Given the description of an element on the screen output the (x, y) to click on. 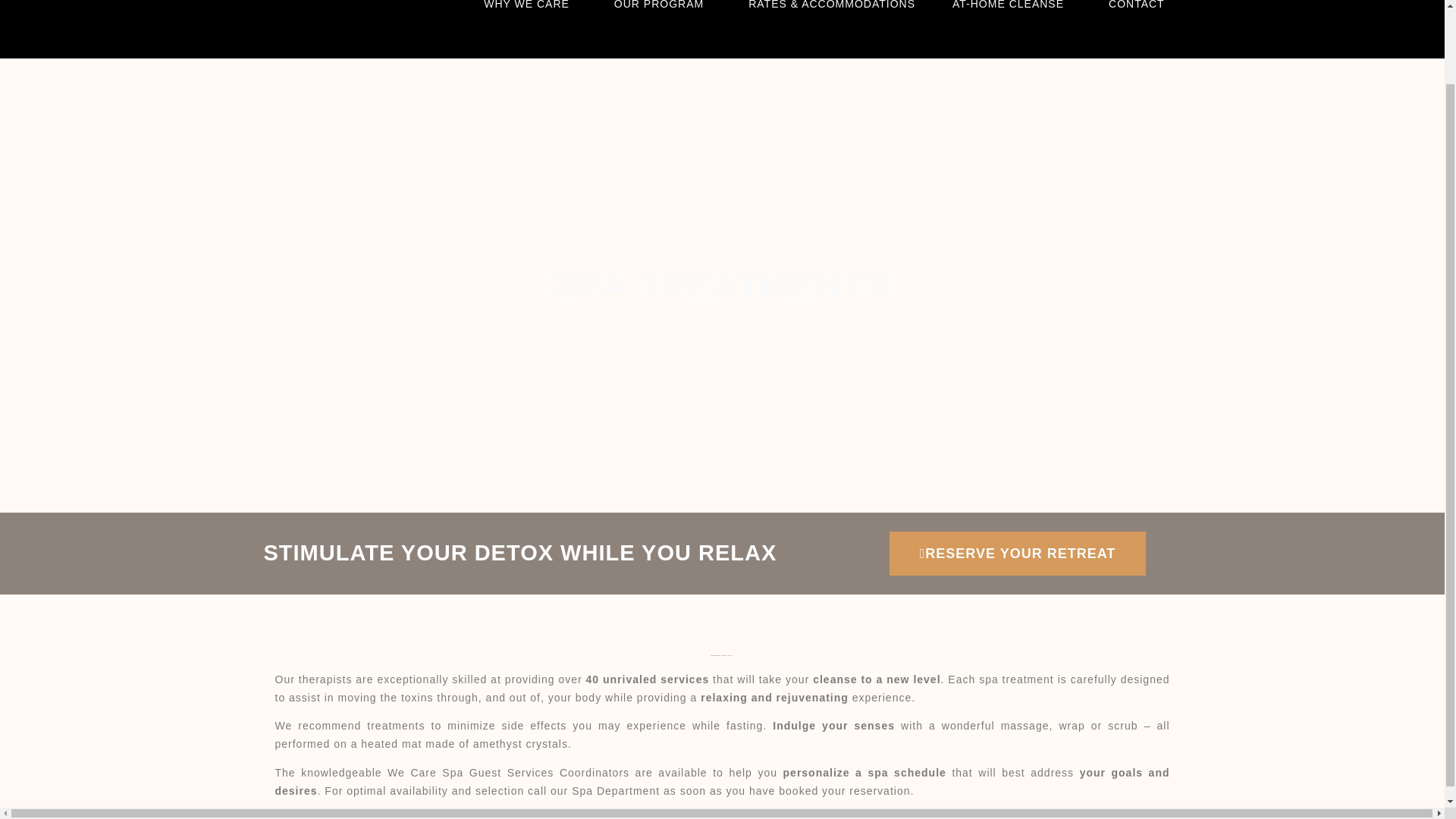
OUR PROGRAM (662, 11)
CONTACT (1136, 11)
AT-HOME CLEANSE (1011, 11)
WHY WE CARE (529, 11)
